Given the description of an element on the screen output the (x, y) to click on. 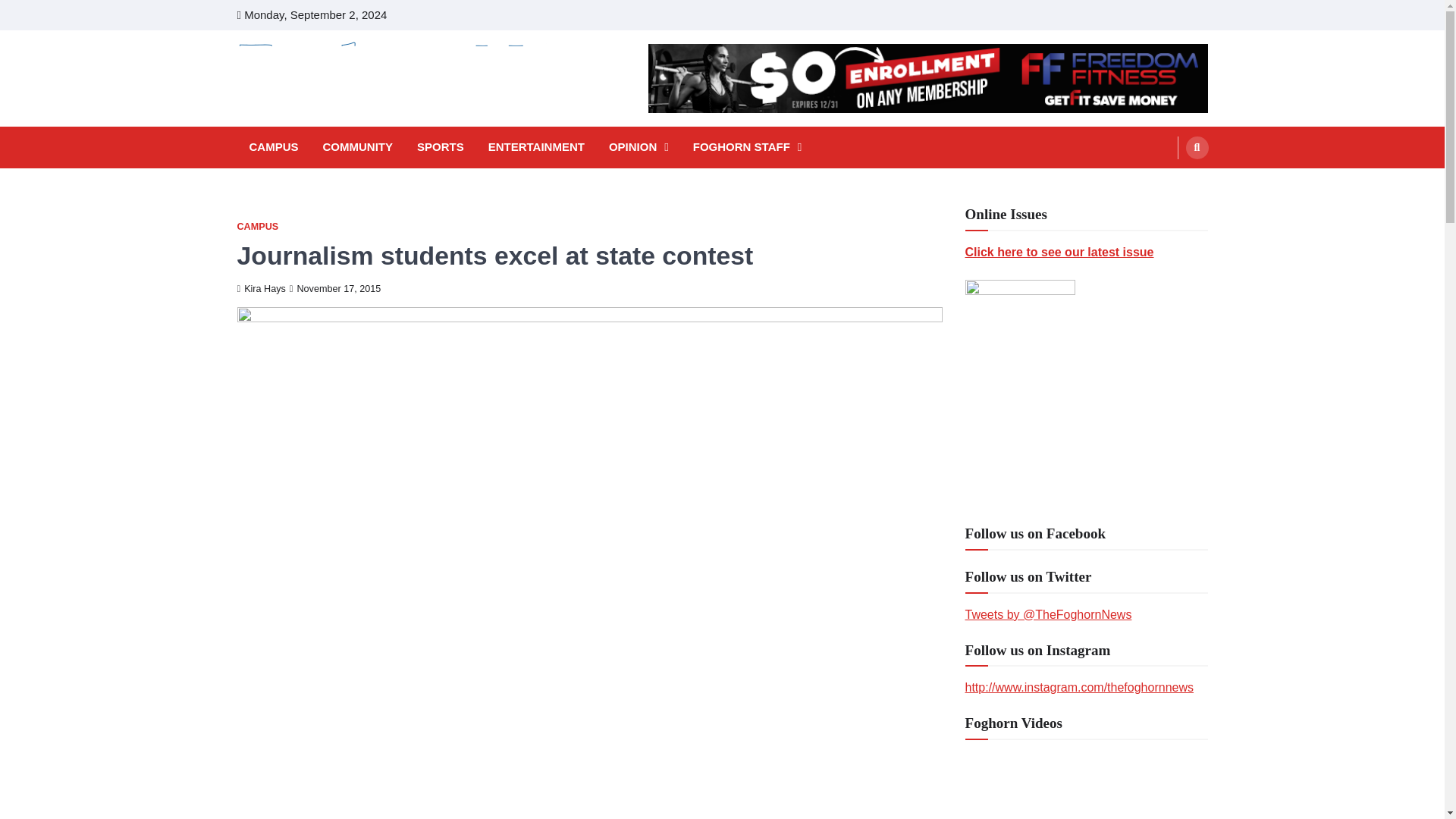
FOGHORN STAFF (747, 147)
CAMPUS (256, 226)
Kira Hays (260, 288)
SPORTS (440, 147)
FOGHORN NEWS (342, 130)
Search (1168, 183)
CAMPUS (273, 147)
ENTERTAINMENT (536, 147)
November 17, 2015 (335, 288)
Search (1197, 147)
